Given the description of an element on the screen output the (x, y) to click on. 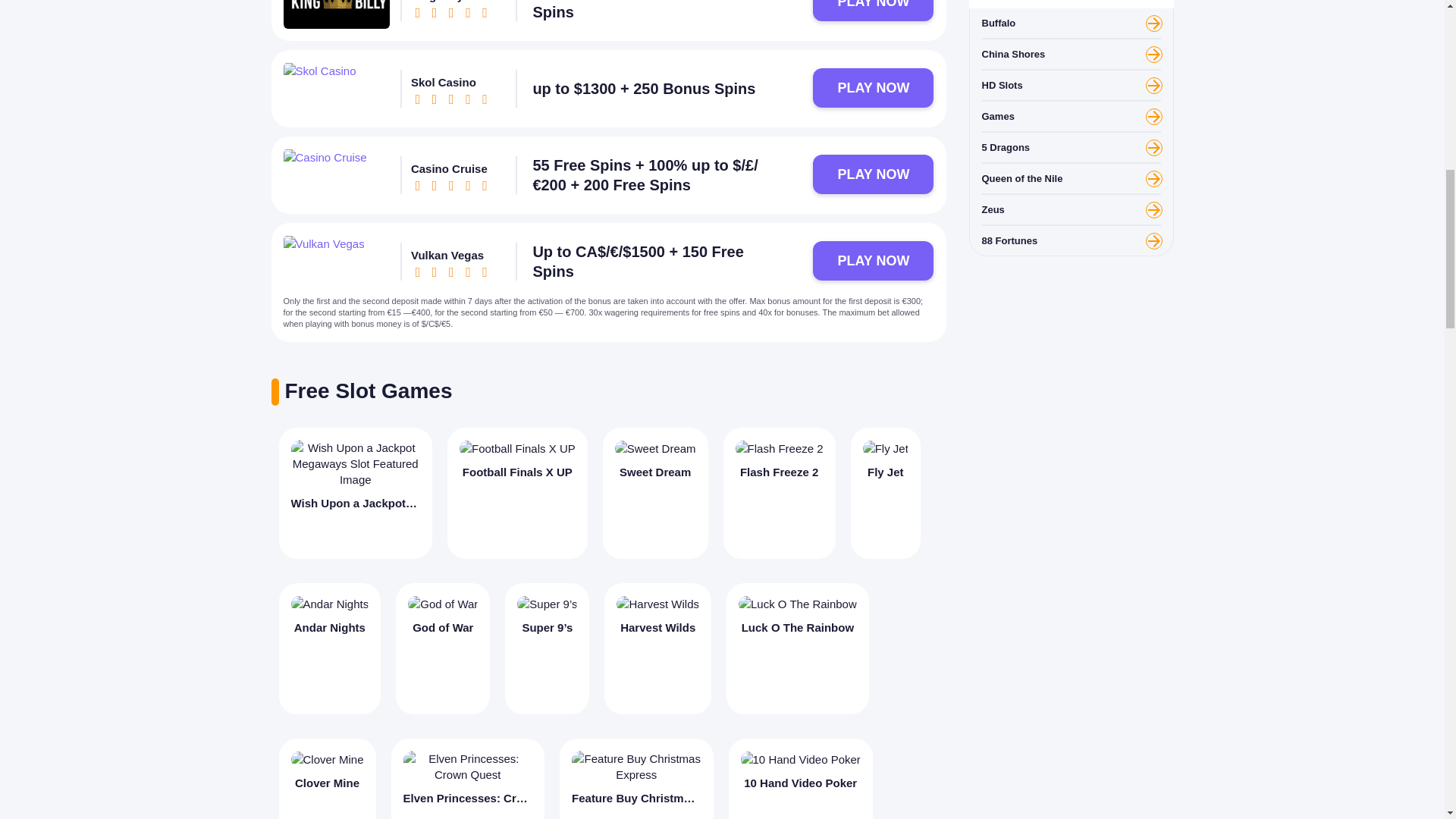
God-of-War (442, 603)
Wish Upon a Jackpot Megaways Slot Featured Image (355, 463)
Football-Finals-X-UP (517, 448)
Wish Upon a Jackpot Megaways (355, 492)
Flash-Freeze-2 (779, 448)
Sweet-Dream (654, 448)
Football Finals X UP (517, 492)
Super-9s (546, 603)
Andar-Nights (330, 603)
Fly-Jet (885, 448)
